Given the description of an element on the screen output the (x, y) to click on. 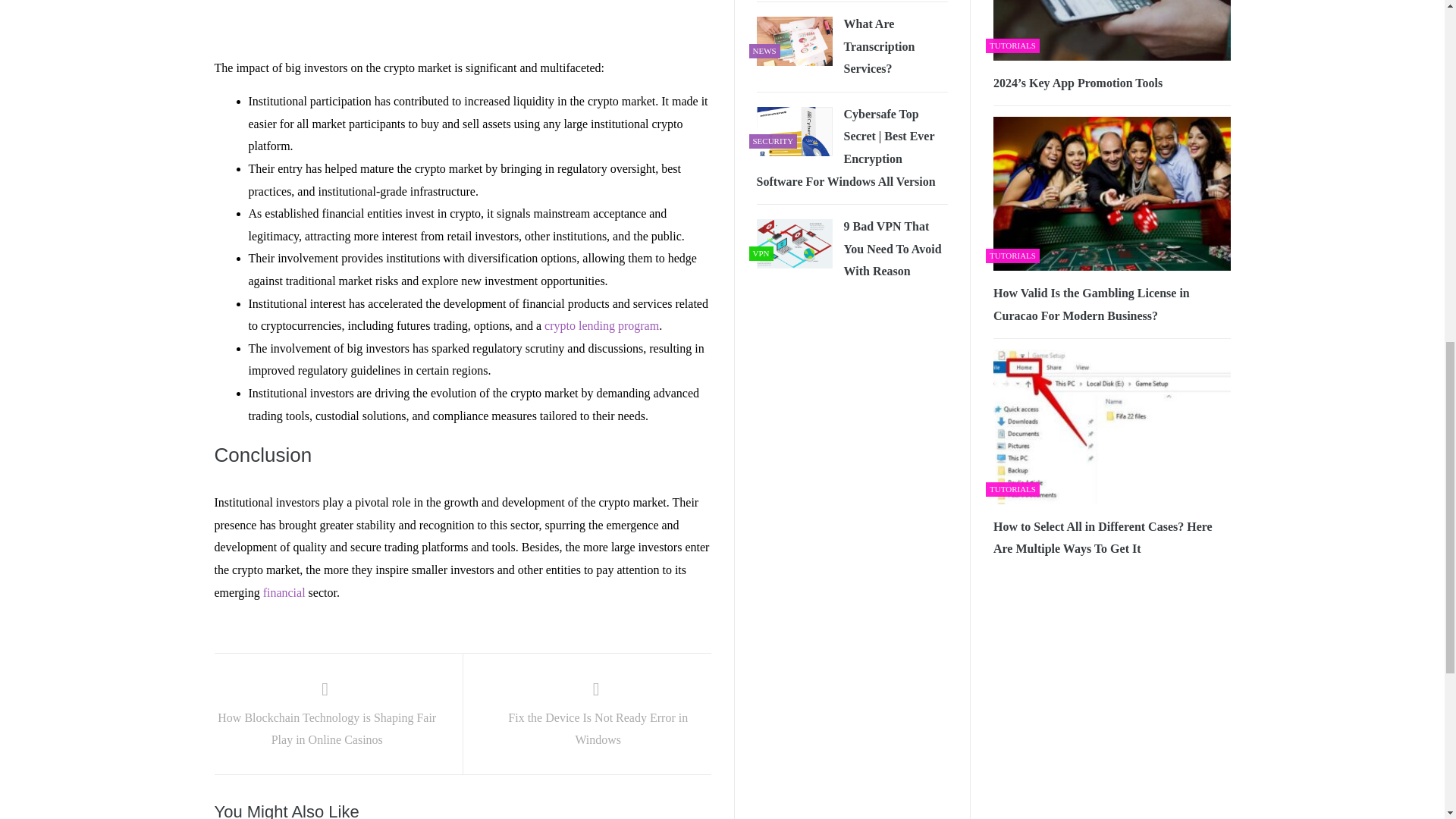
crypto lending program (601, 325)
Fix the Device Is Not Ready Error in Windows (597, 715)
financial (284, 592)
